Given the description of an element on the screen output the (x, y) to click on. 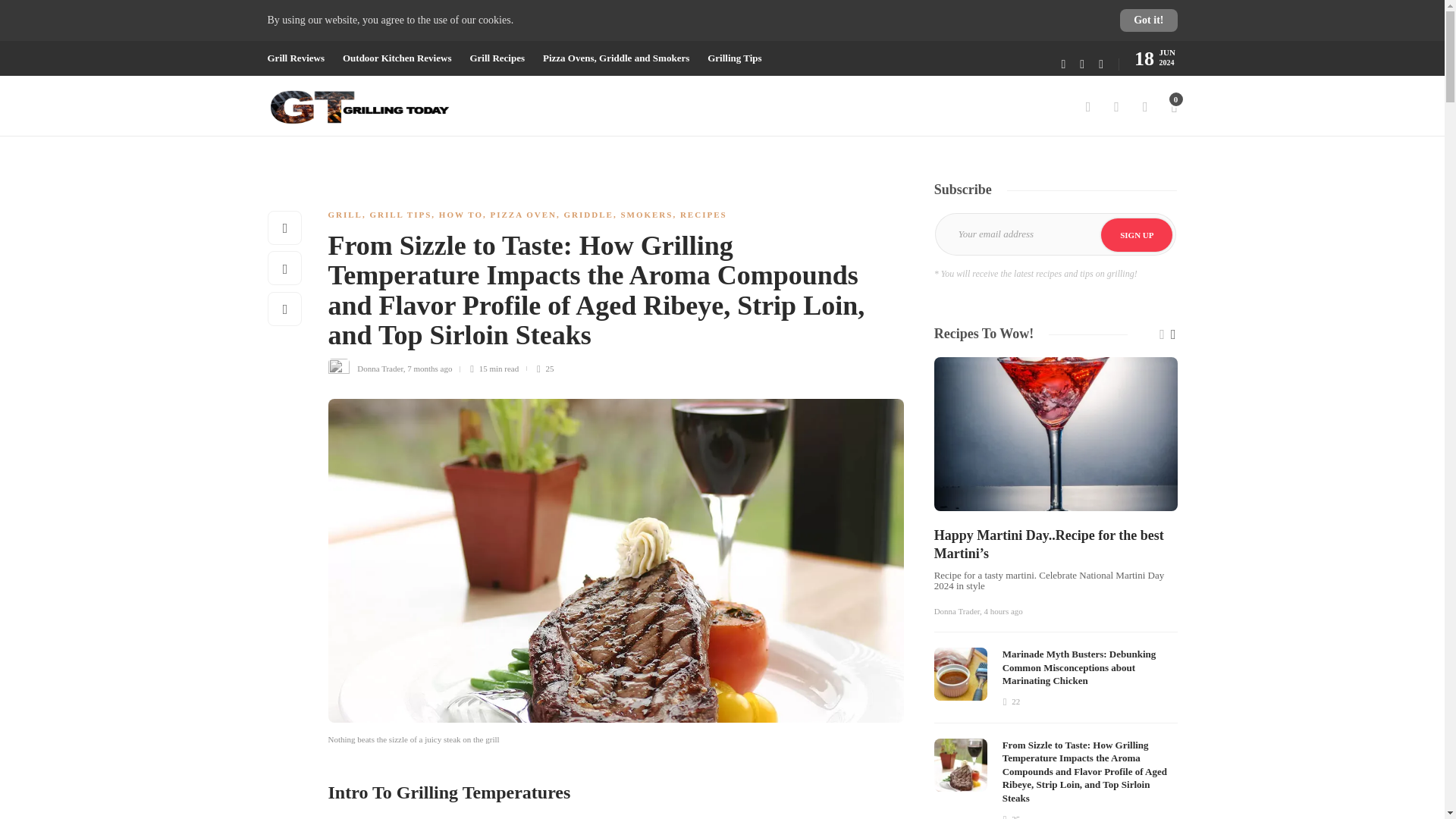
Got it! (1147, 20)
Outdoor Kitchen Reviews (396, 58)
Grill Reviews (294, 58)
Sign up (1136, 234)
